Given the description of an element on the screen output the (x, y) to click on. 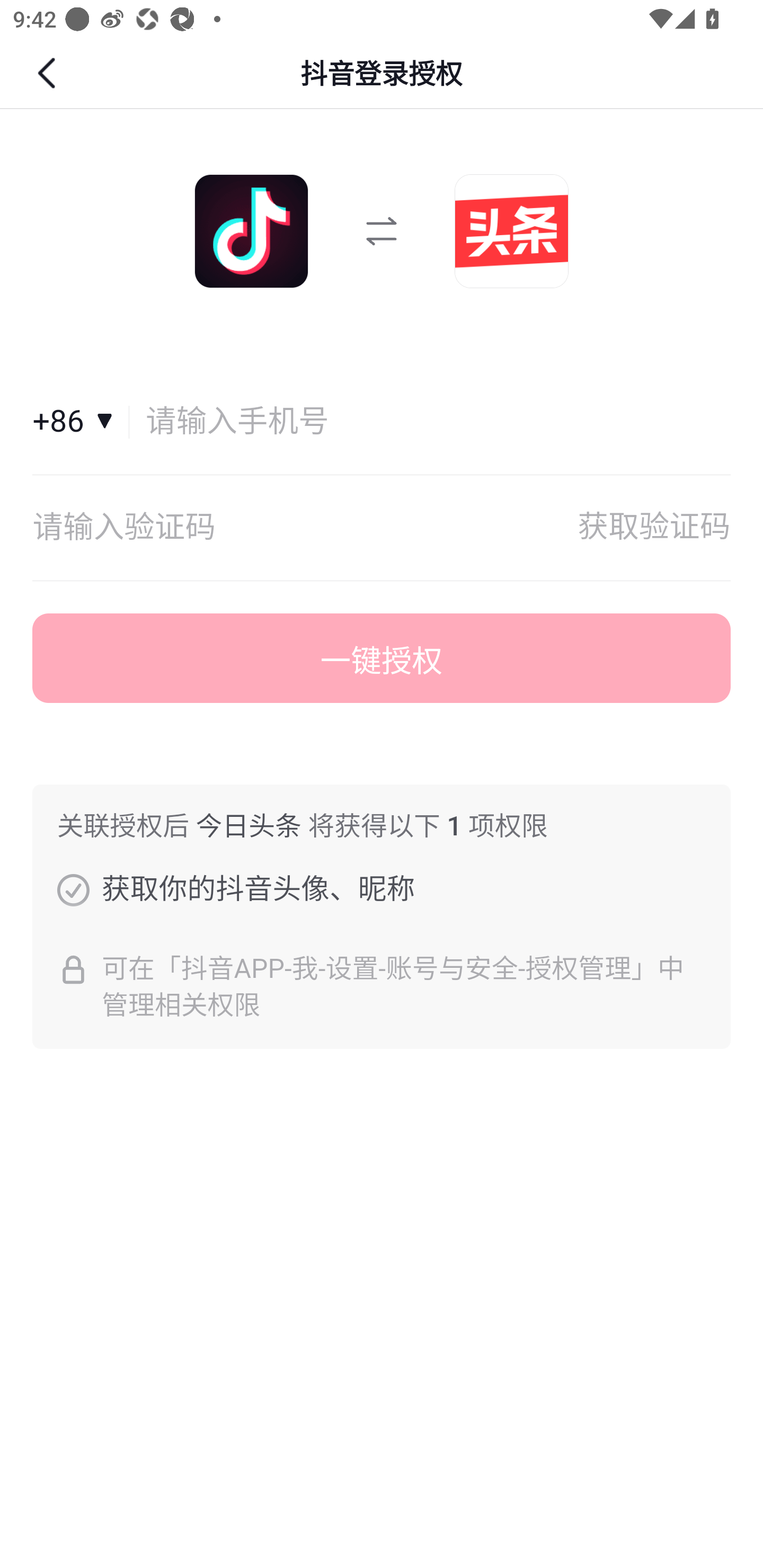
返回 (49, 72)
国家和地区+86 (81, 421)
获取验证码 (653, 527)
一键授权 (381, 658)
获取你的抖音头像、昵称 (72, 889)
